Given the description of an element on the screen output the (x, y) to click on. 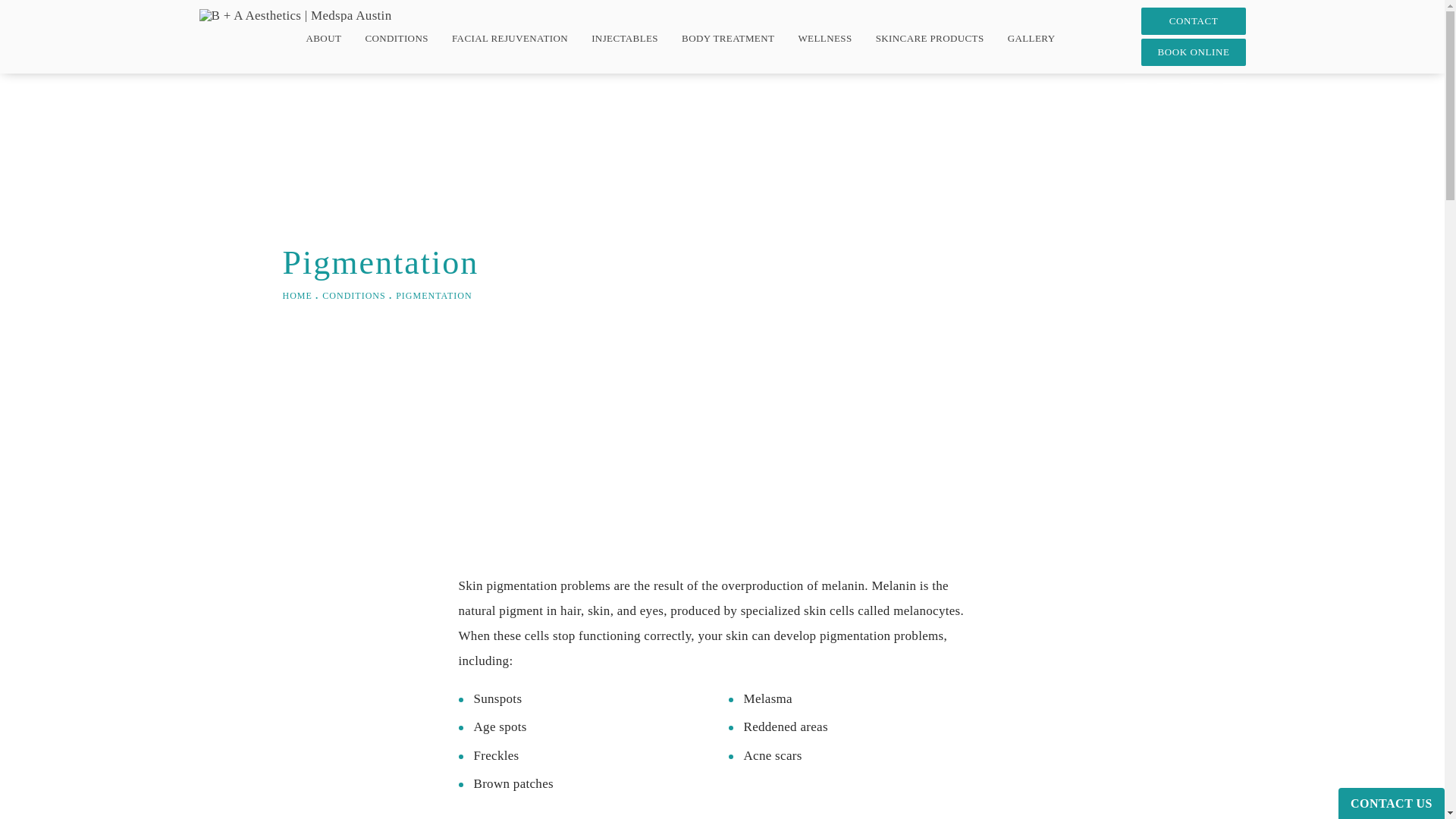
CONDITIONS (395, 37)
ABOUT (323, 37)
FACIAL REJUVENATION (509, 37)
